Given the description of an element on the screen output the (x, y) to click on. 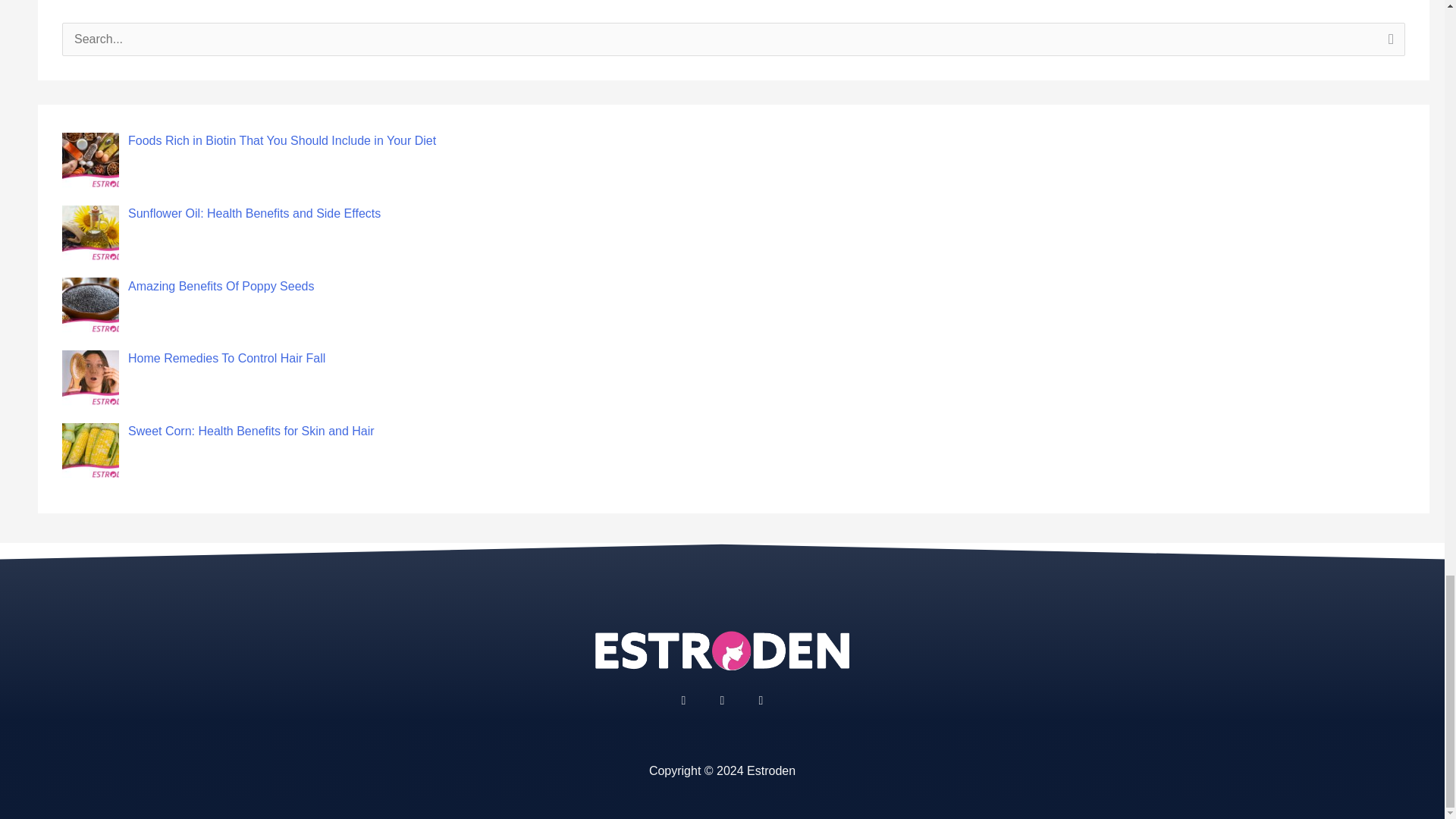
Search (1388, 43)
Home Remedies To Control Hair Fall (226, 358)
Sunflower Oil: Health Benefits and Side Effects (254, 213)
Search (1388, 43)
Pinterest (760, 700)
Sweet Corn: Health Benefits for Skin and Hair (251, 431)
Facebook-f (683, 700)
Foods Rich in Biotin That You Should Include in Your Diet (281, 140)
Instagram (721, 700)
Amazing Benefits Of Poppy Seeds (221, 286)
Search (1388, 43)
